Given the description of an element on the screen output the (x, y) to click on. 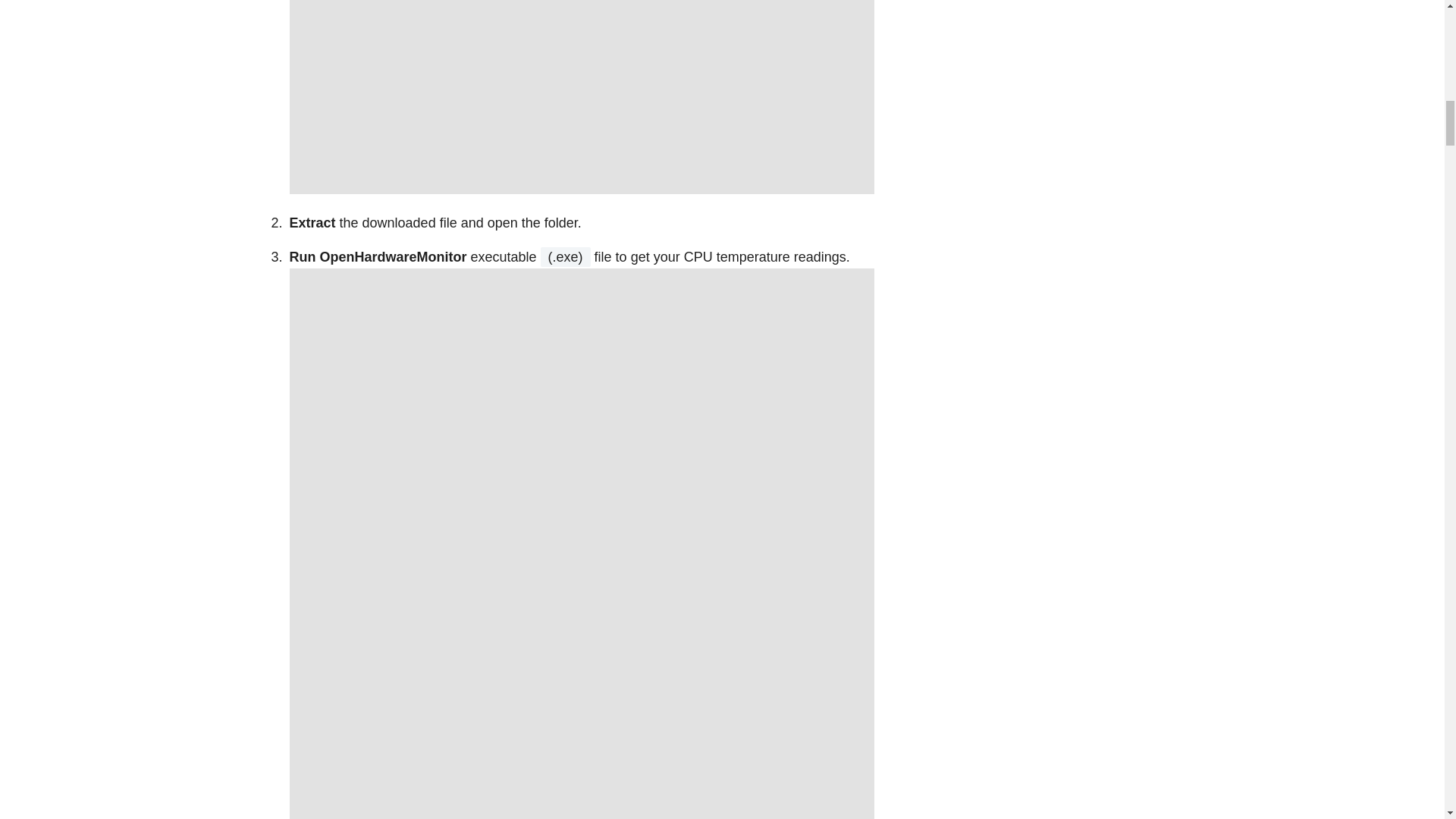
8 Best Tools To Monitor CPU Temperature 16 (582, 97)
